Given the description of an element on the screen output the (x, y) to click on. 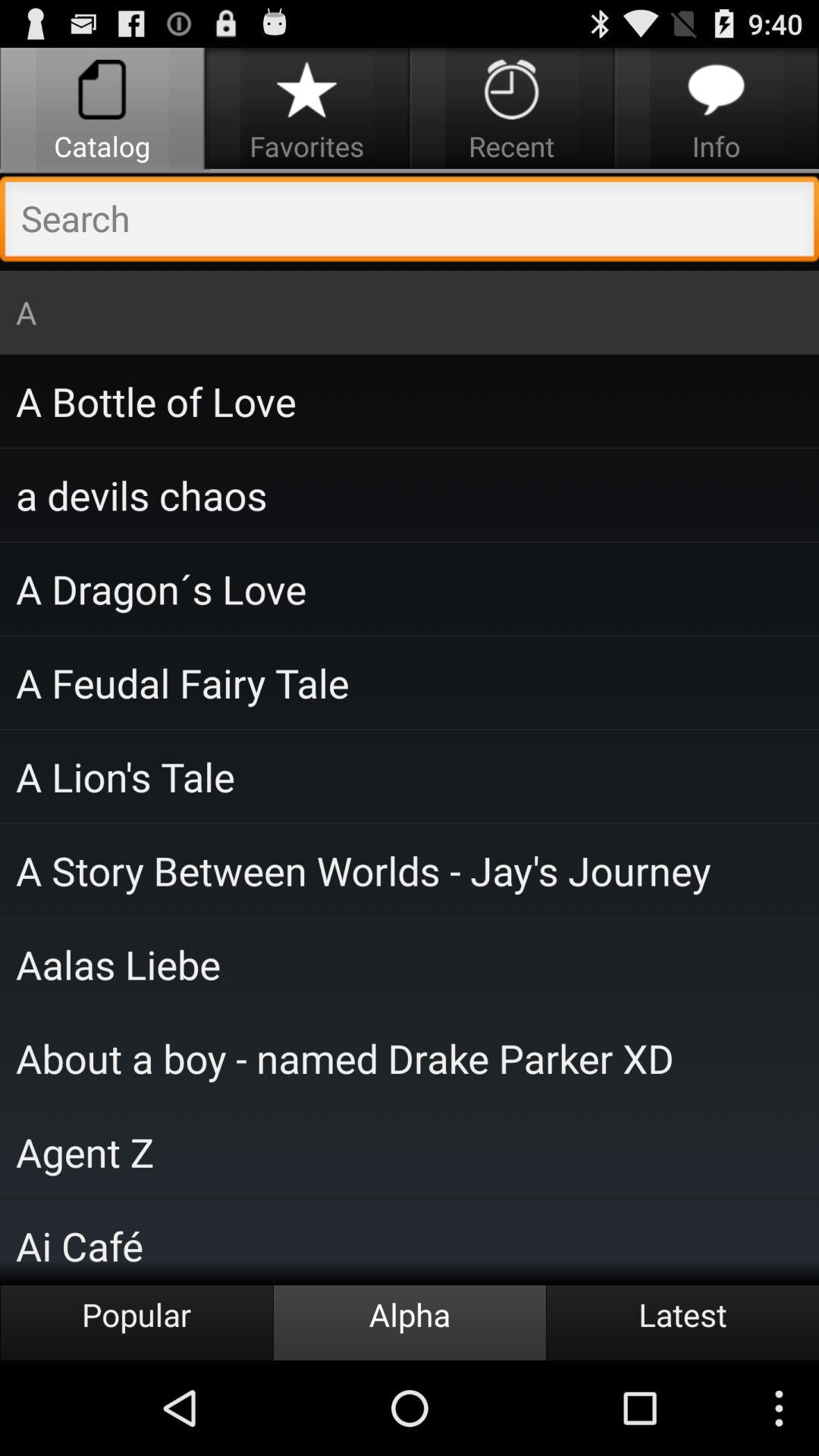
open the latest item (682, 1322)
